Given the description of an element on the screen output the (x, y) to click on. 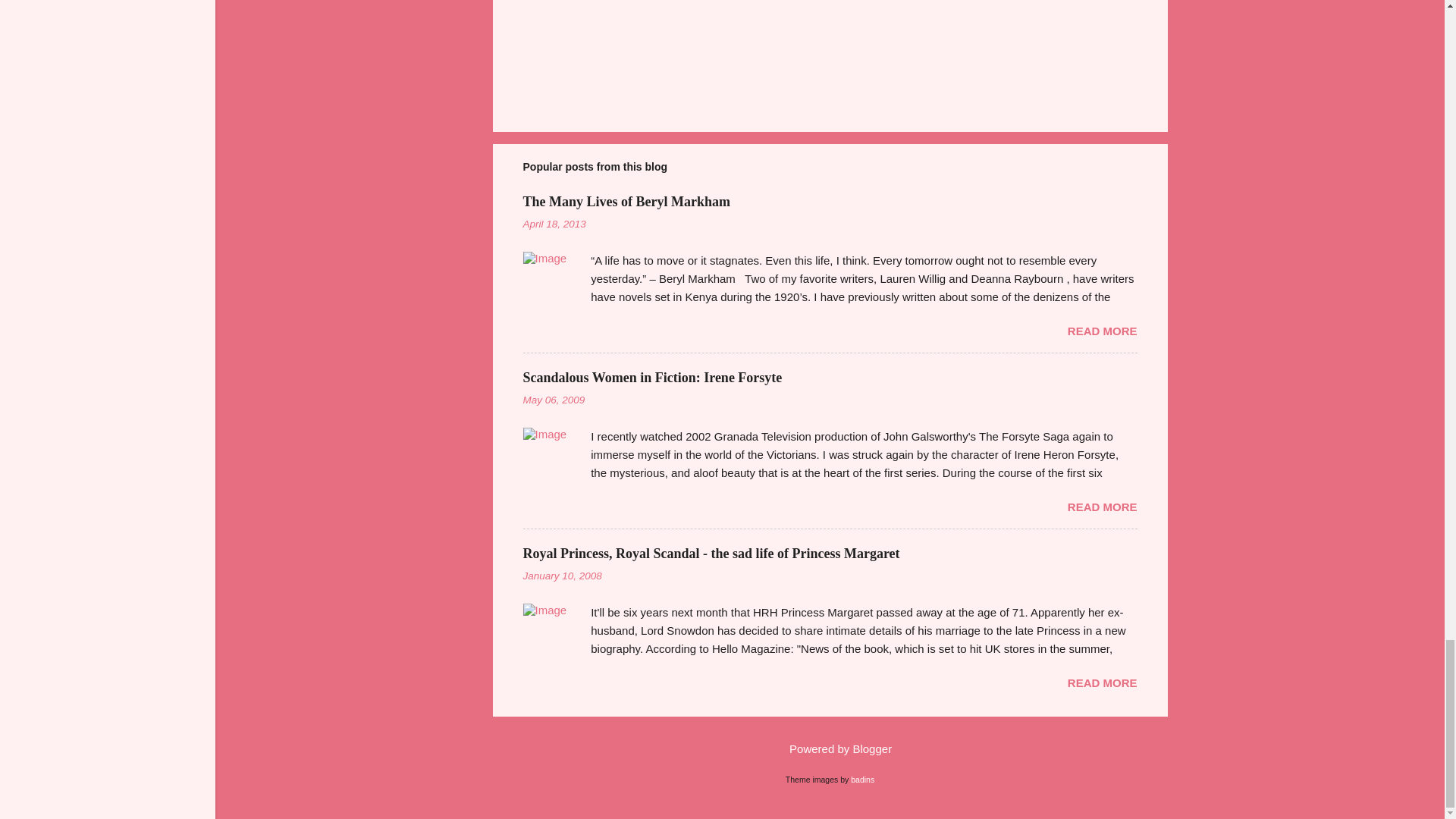
Scandalous Women in Fiction: Irene Forsyte (652, 377)
The Many Lives of Beryl Markham (626, 201)
READ MORE (1102, 330)
READ MORE (1102, 506)
READ MORE (1102, 682)
badins (862, 778)
May 06, 2009 (553, 399)
permanent link (554, 224)
January 10, 2008 (562, 575)
Powered by Blogger (829, 748)
April 18, 2013 (554, 224)
